Given the description of an element on the screen output the (x, y) to click on. 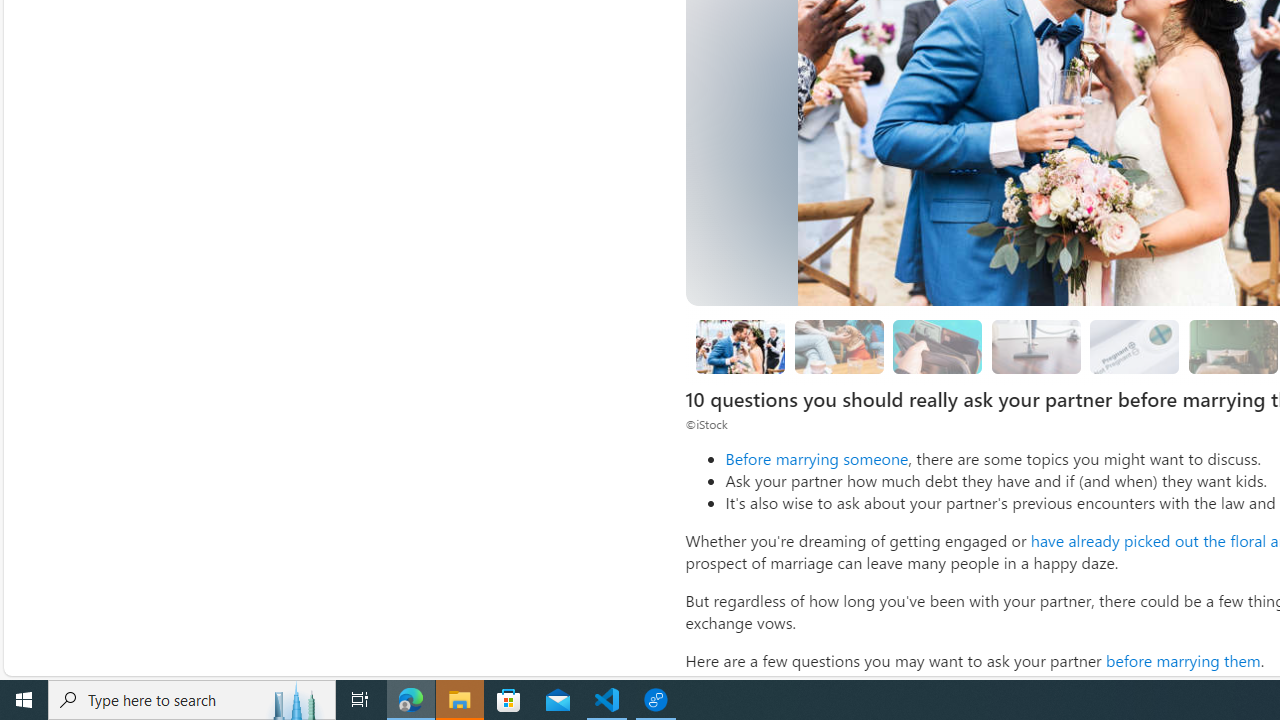
Two friend sitting at a coffee shop petting a dog. (838, 346)
What kind of debt do you have? (938, 346)
Two friend sitting at a coffee shop petting a dog. (838, 346)
Shades of green get dated too quickly. (1232, 346)
Do you want kids? If so, when? (1135, 346)
Before marrying someone (816, 457)
What kind of debt do you have? (937, 346)
Do you want kids? If so, when? (1134, 346)
before marrying them (1182, 660)
Class: progress (1134, 343)
